Given the description of an element on the screen output the (x, y) to click on. 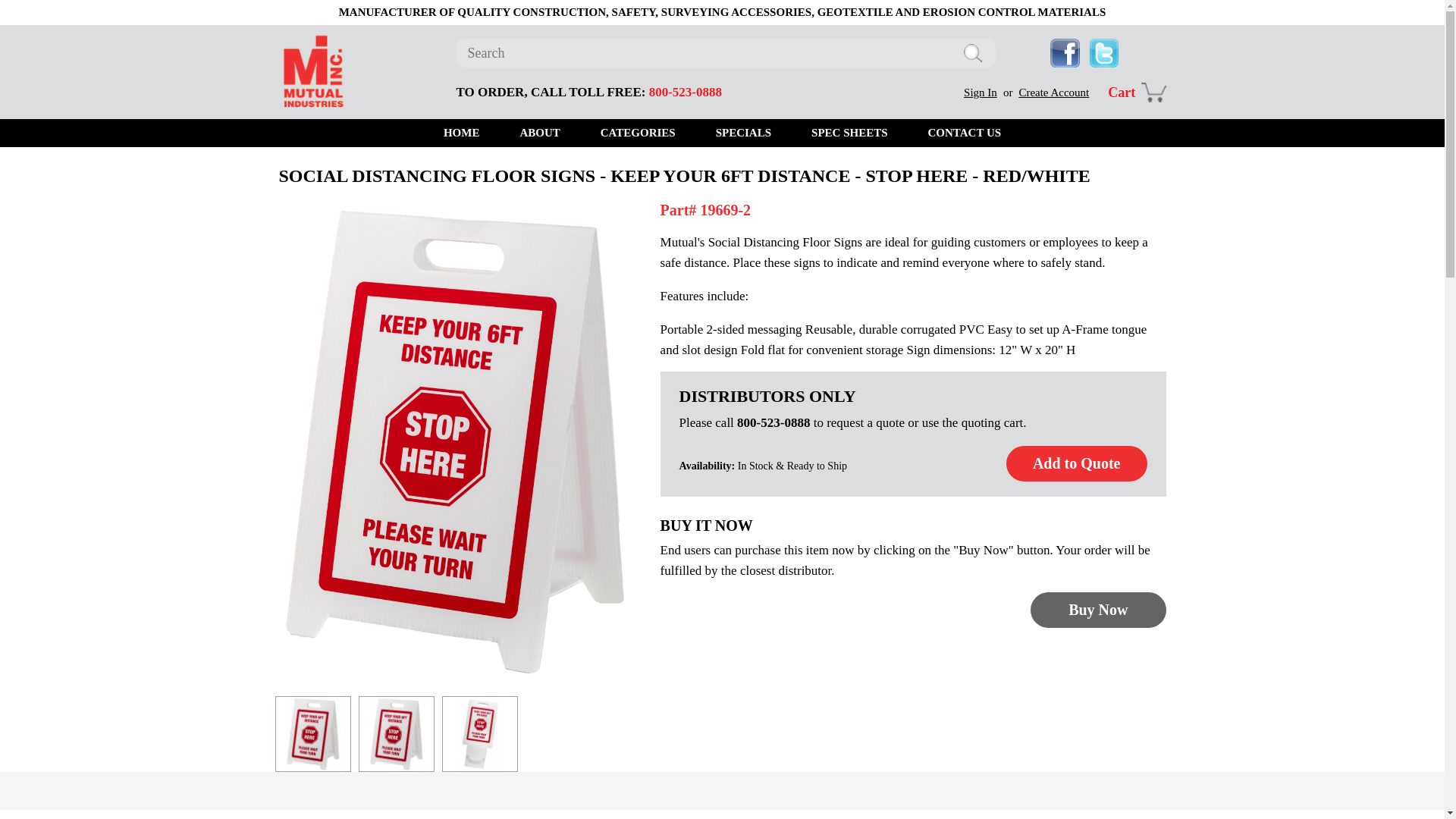
HOME (462, 132)
CONTACT US (964, 132)
Cart (1137, 91)
SPEC SHEETS (848, 132)
Sign In (980, 92)
SPECIALS (743, 132)
Add to Quote (1076, 463)
CATEGORIES (637, 132)
19669-2 (479, 733)
Create Account (1053, 92)
19669-2 (396, 733)
ABOUT (539, 132)
Buy Now (1098, 610)
